Given the description of an element on the screen output the (x, y) to click on. 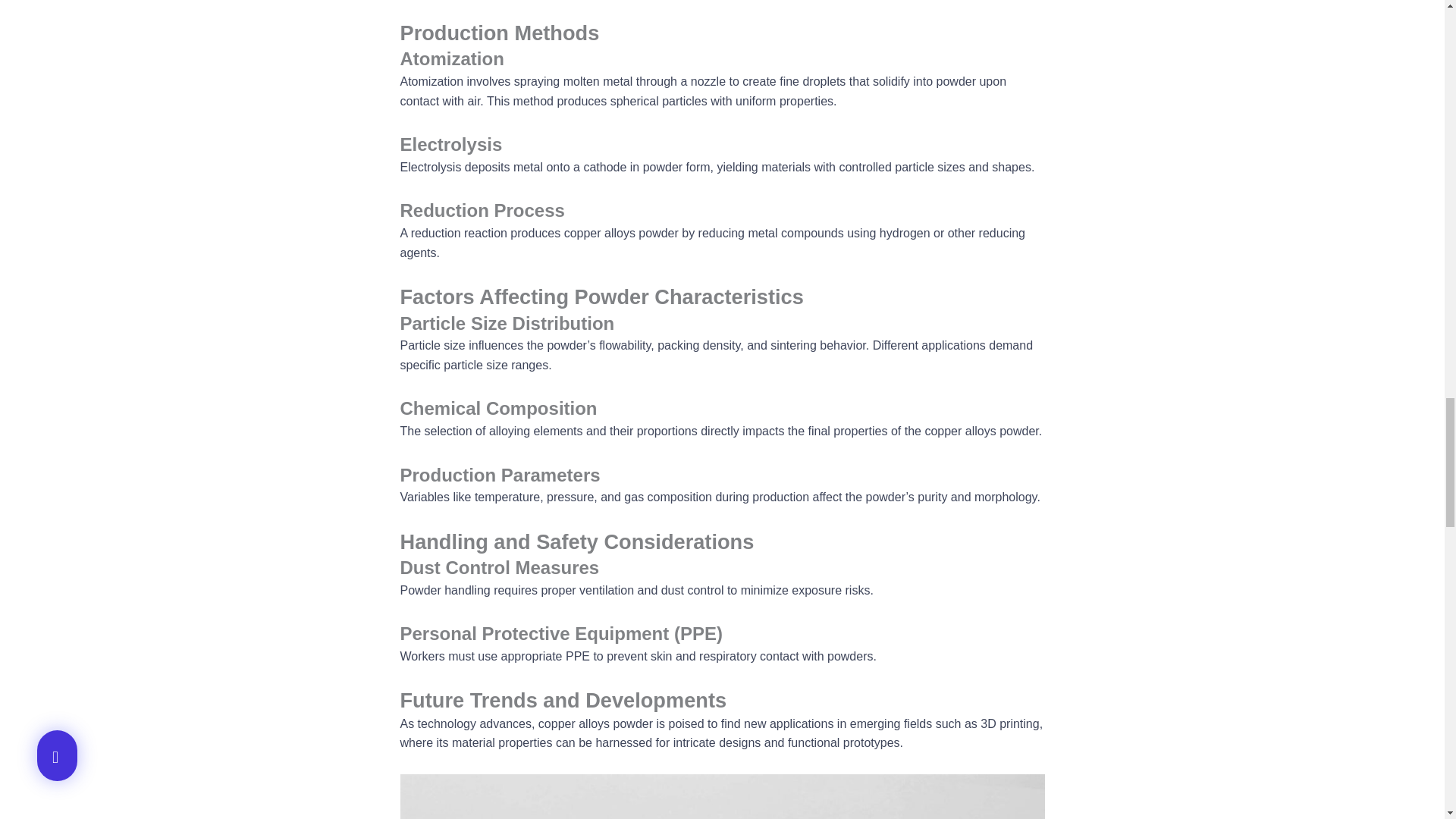
Copper Alloys Powder: Unveiling Strength and Versatility 3 (722, 796)
